Given the description of an element on the screen output the (x, y) to click on. 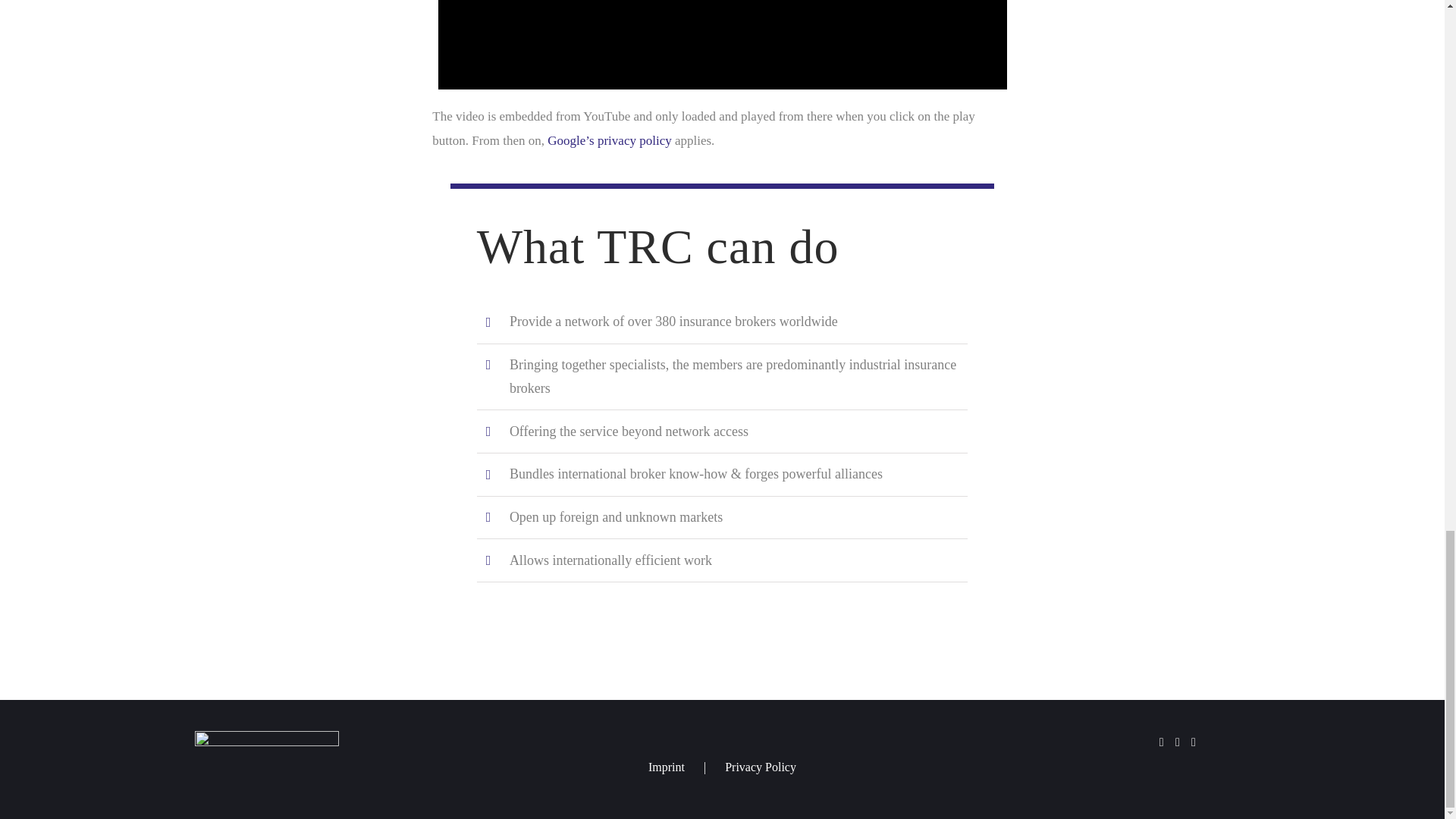
YouTube video player 1 (722, 44)
Privacy Policy (760, 767)
Imprint (686, 767)
